Given the description of an element on the screen output the (x, y) to click on. 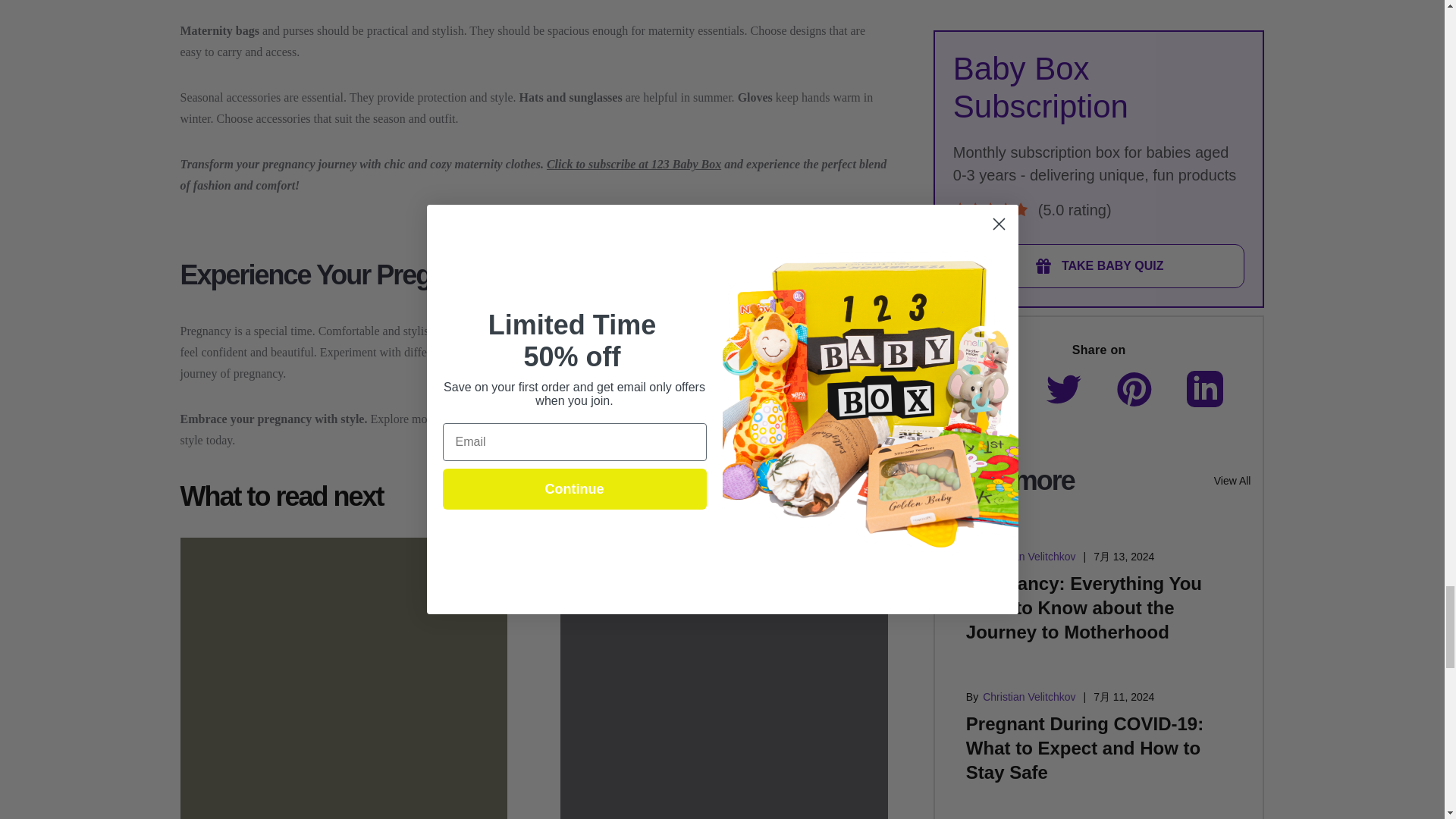
Click to subscribe at 123 Baby Box (633, 164)
123 Baby Box (691, 418)
